Given the description of an element on the screen output the (x, y) to click on. 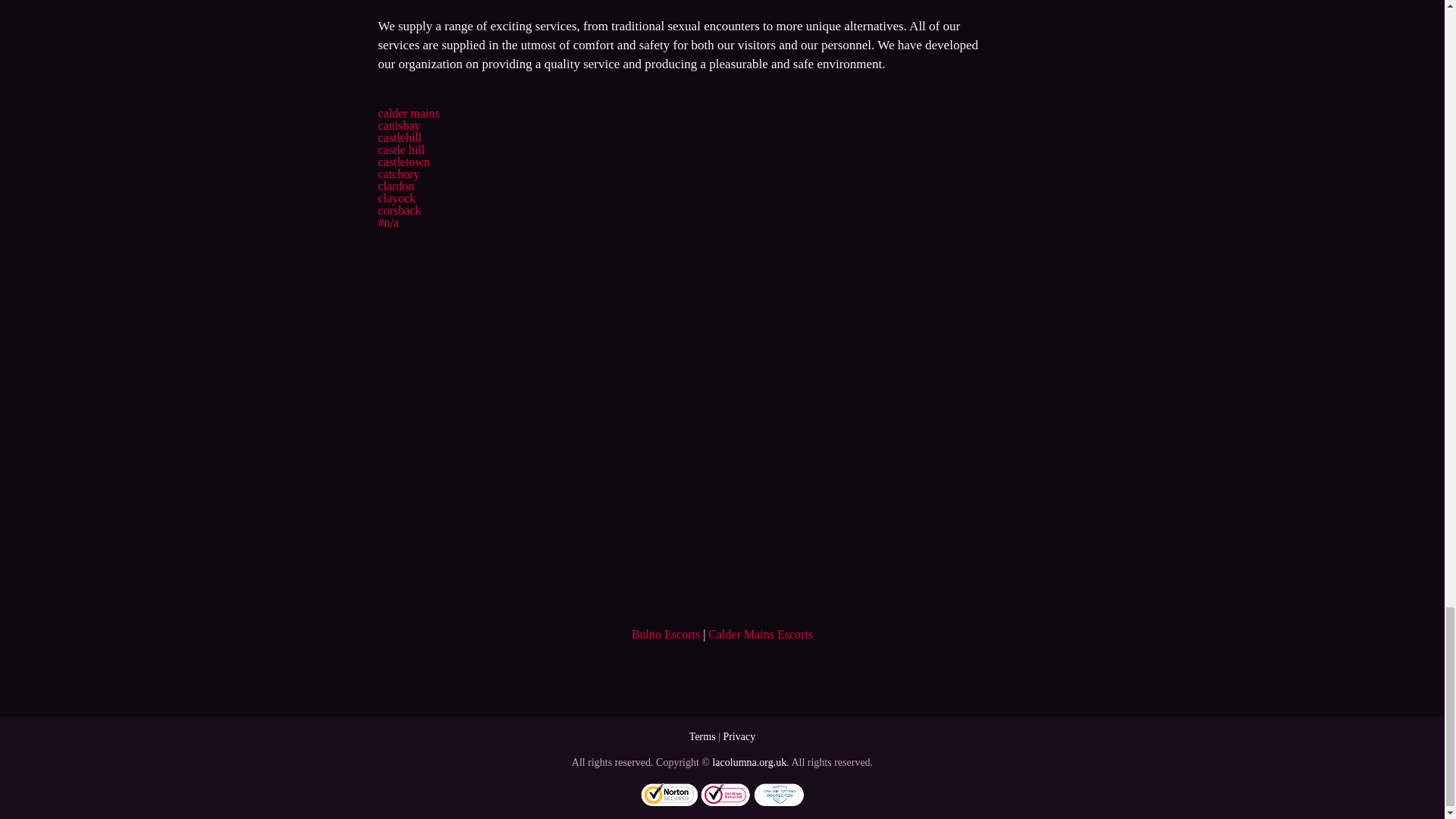
Privacy (738, 736)
Terms (702, 736)
Privacy (738, 736)
Calder Mains Escorts (759, 634)
castlehill (399, 137)
canisbay (398, 124)
calder mains (408, 113)
clayock (395, 197)
castletown (403, 161)
Terms (702, 736)
clardon (395, 185)
Bulno Escorts (665, 634)
corsback (398, 210)
catchory (398, 173)
castle hill (401, 149)
